Given the description of an element on the screen output the (x, y) to click on. 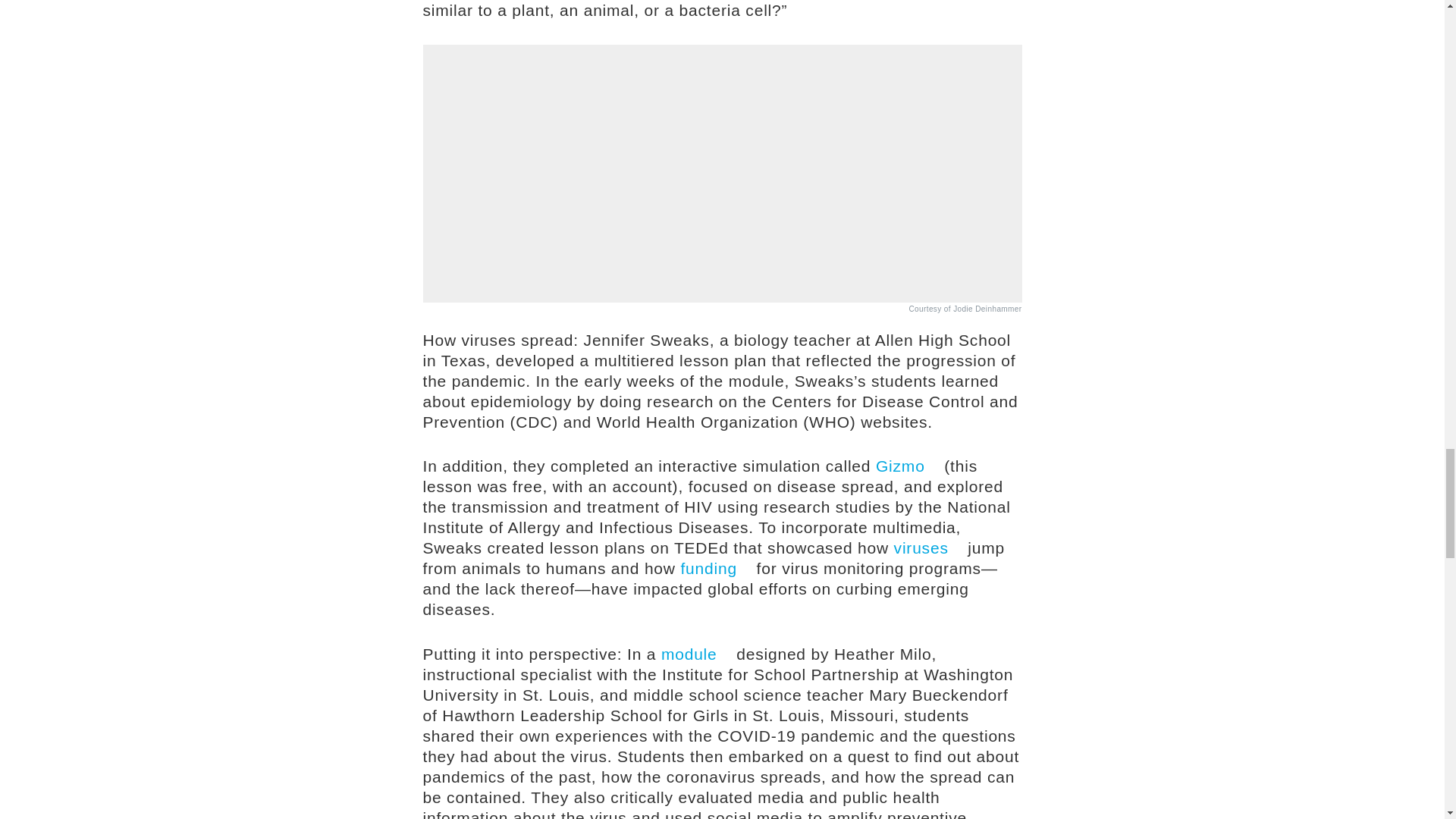
module (696, 653)
Gizmo (907, 466)
viruses (927, 547)
funding (715, 568)
